Given the description of an element on the screen output the (x, y) to click on. 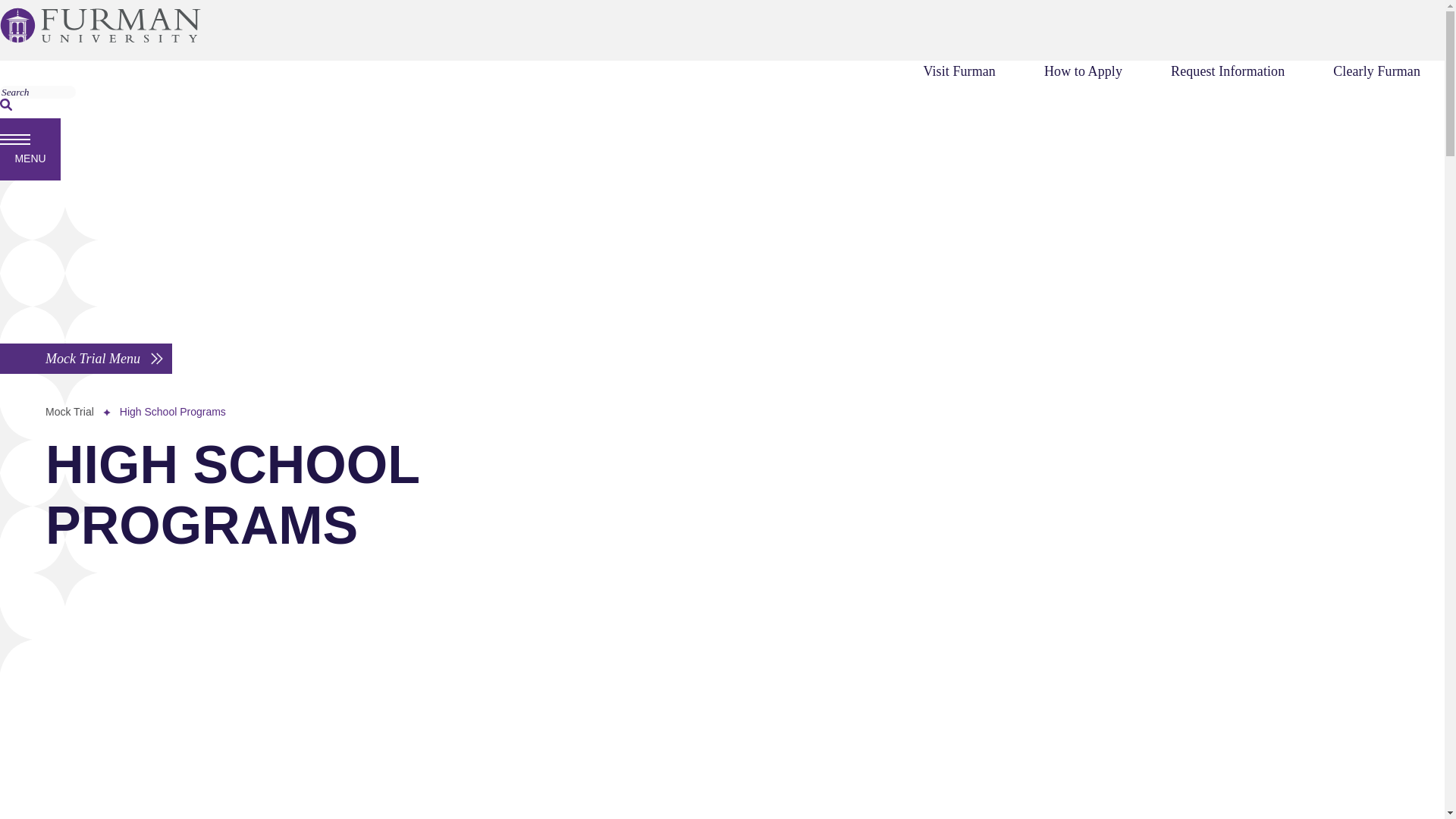
How to Apply (1083, 70)
Request Information (1227, 70)
Mock Trial (69, 411)
High School Programs (172, 411)
Mock Trial Menu (85, 358)
MENU (30, 148)
Visit Furman (959, 70)
